Given the description of an element on the screen output the (x, y) to click on. 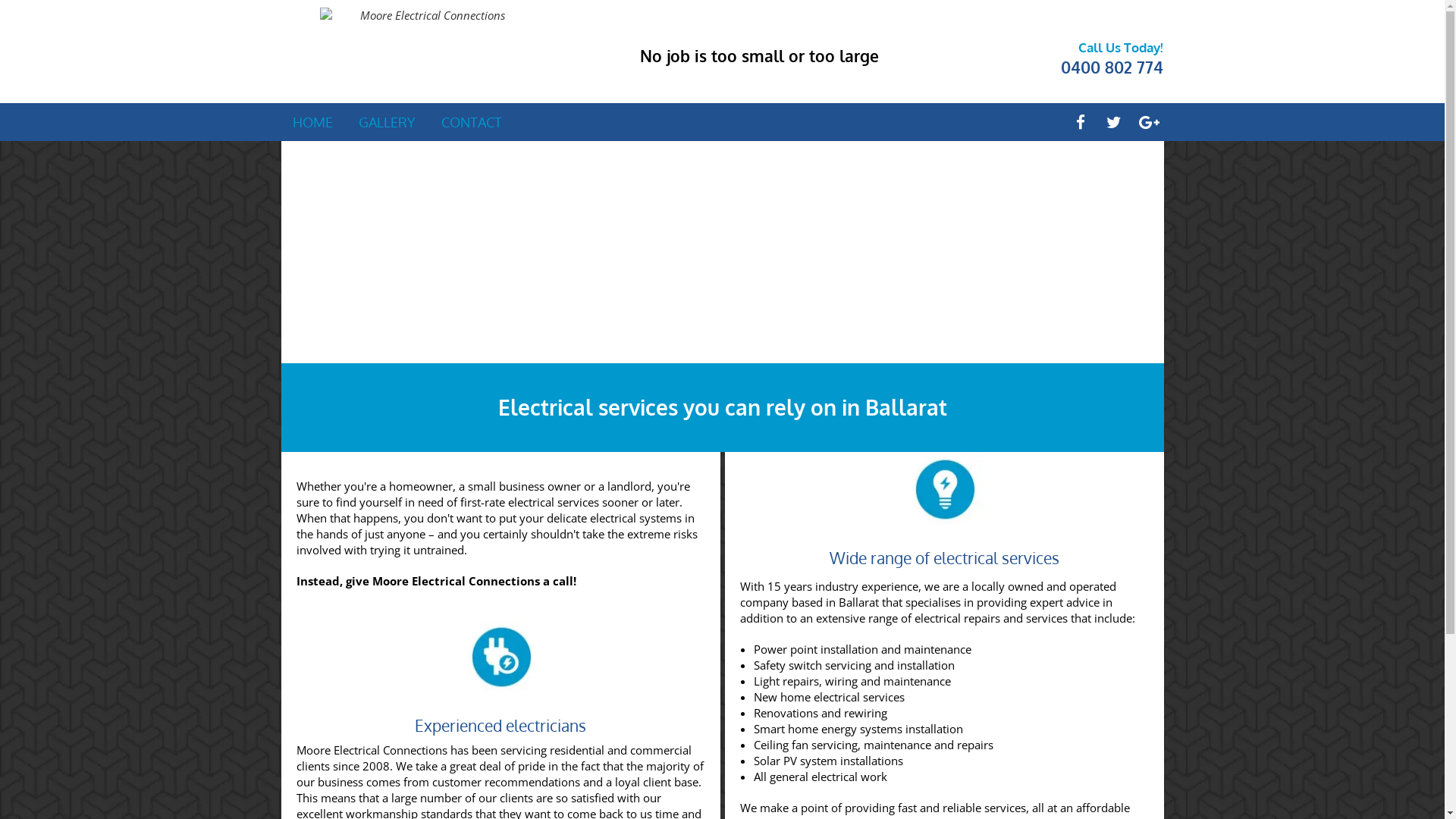
CONTACT Element type: text (471, 121)
HOME Element type: text (312, 121)
GALLERY Element type: text (385, 121)
moore electrical connections power bulb icon Element type: hover (944, 488)
0400 802 774 Element type: text (1111, 66)
moore electrical connections power plug icon Element type: hover (499, 656)
